Given the description of an element on the screen output the (x, y) to click on. 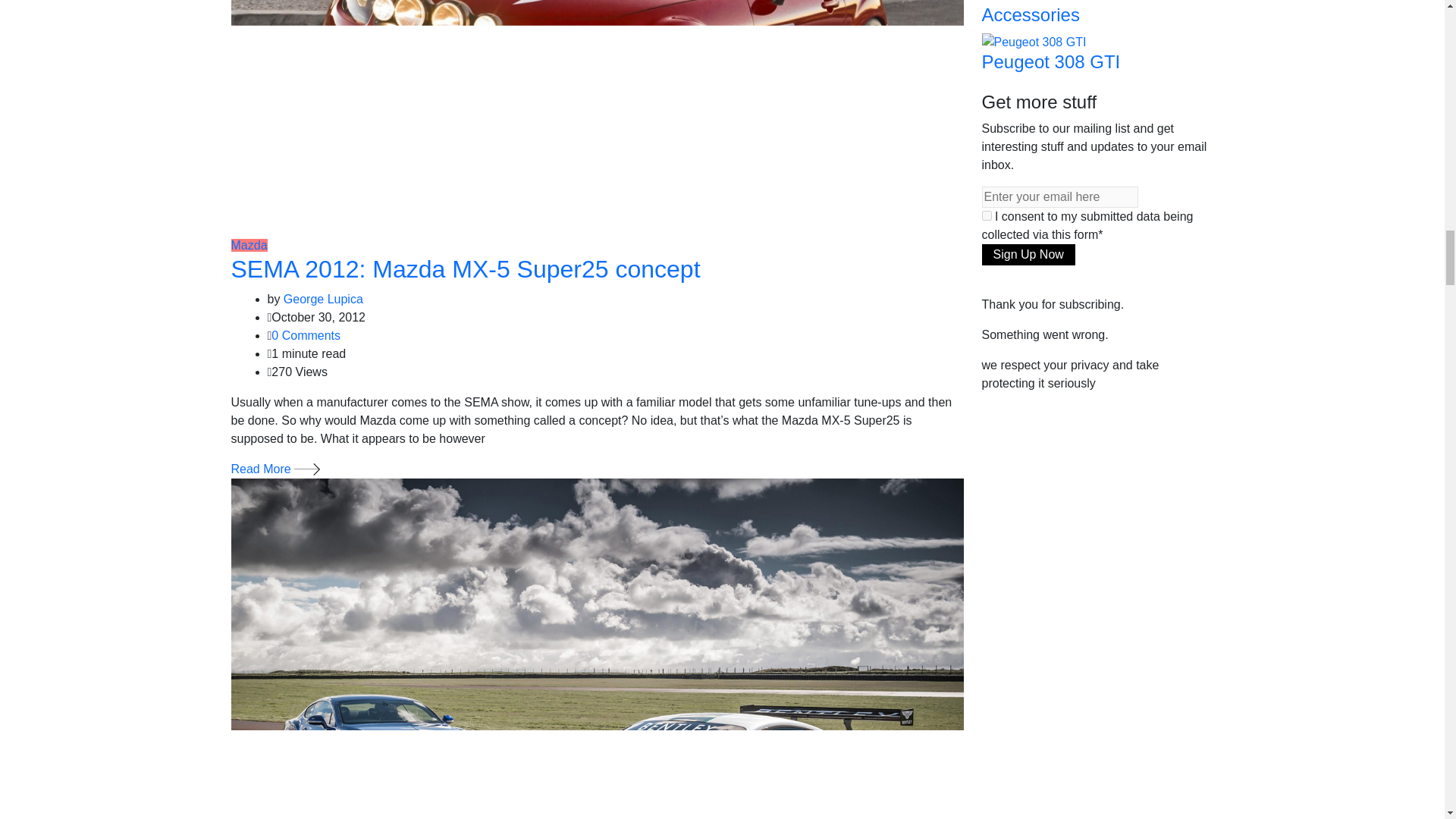
Sign Up Now (1027, 254)
Posts by George Lupica (322, 298)
on (986, 215)
